Given the description of an element on the screen output the (x, y) to click on. 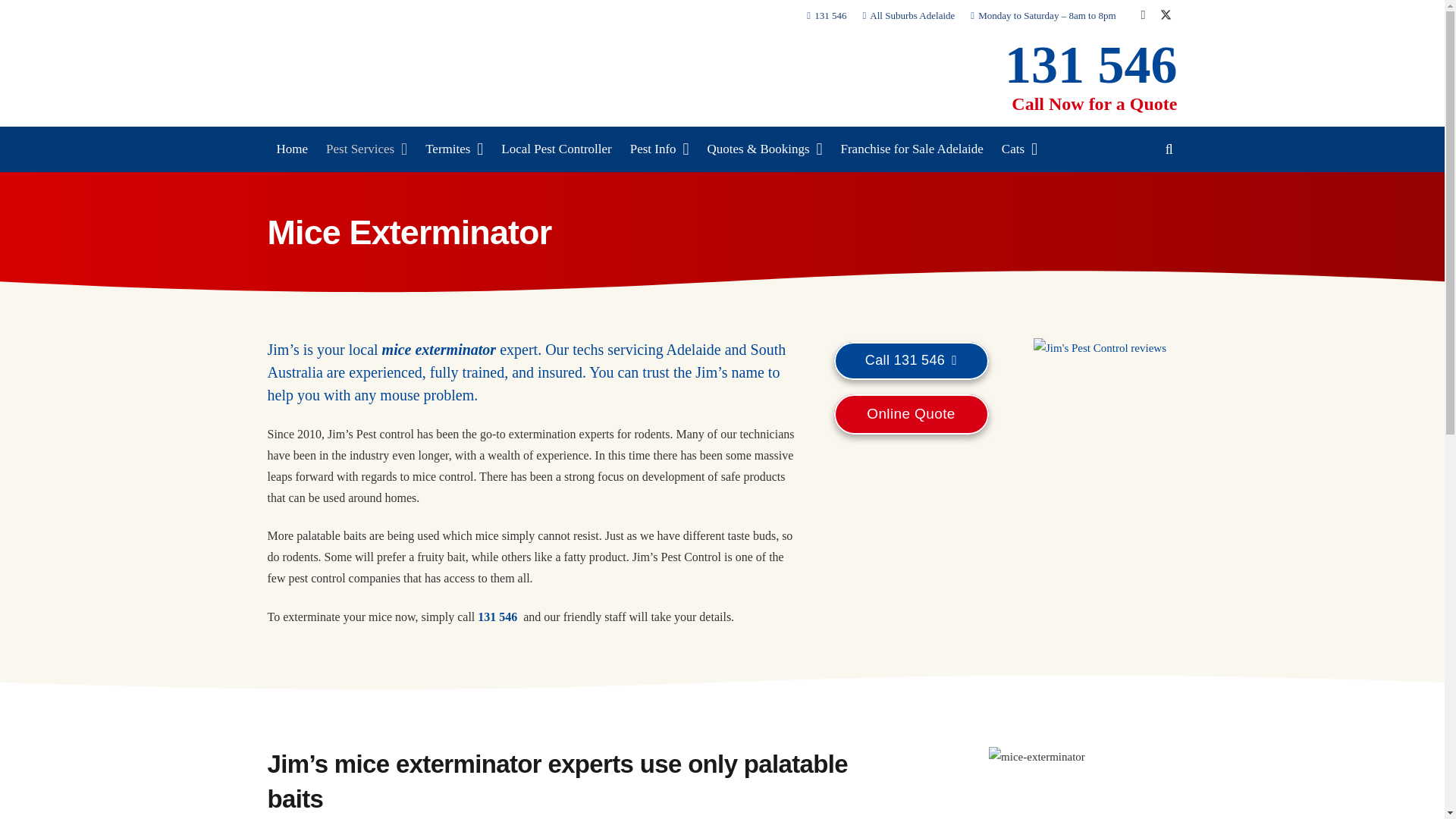
131 546 (1090, 64)
Call 131 546 (911, 360)
Online Quote (911, 413)
Home (291, 148)
Instagram (1142, 15)
Twitter (1165, 15)
Pest Services (366, 148)
